Given the description of an element on the screen output the (x, y) to click on. 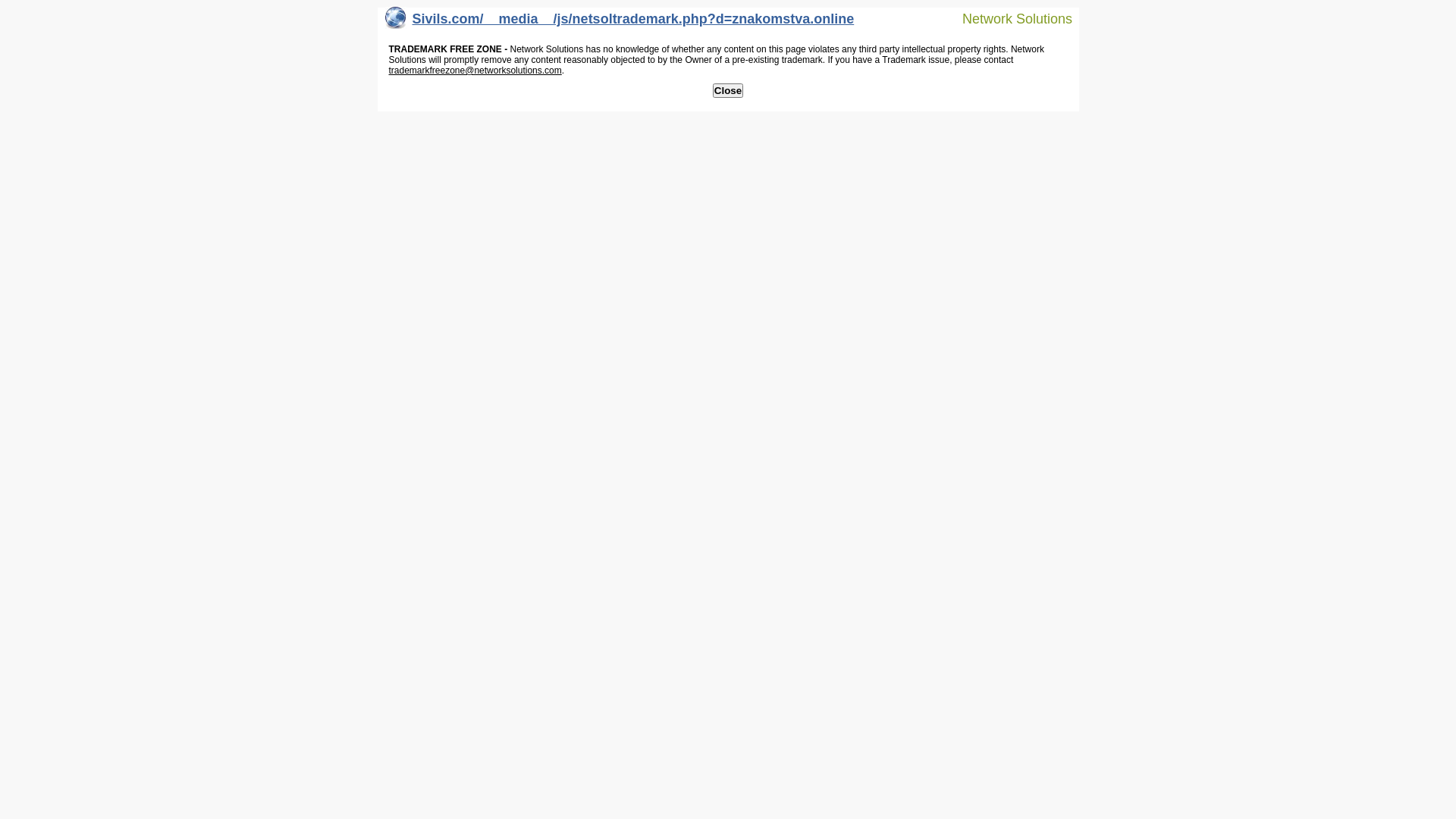
Close Element type: text (727, 90)
trademarkfreezone@networksolutions.com Element type: text (474, 70)
Network Solutions Element type: text (1007, 17)
